Given the description of an element on the screen output the (x, y) to click on. 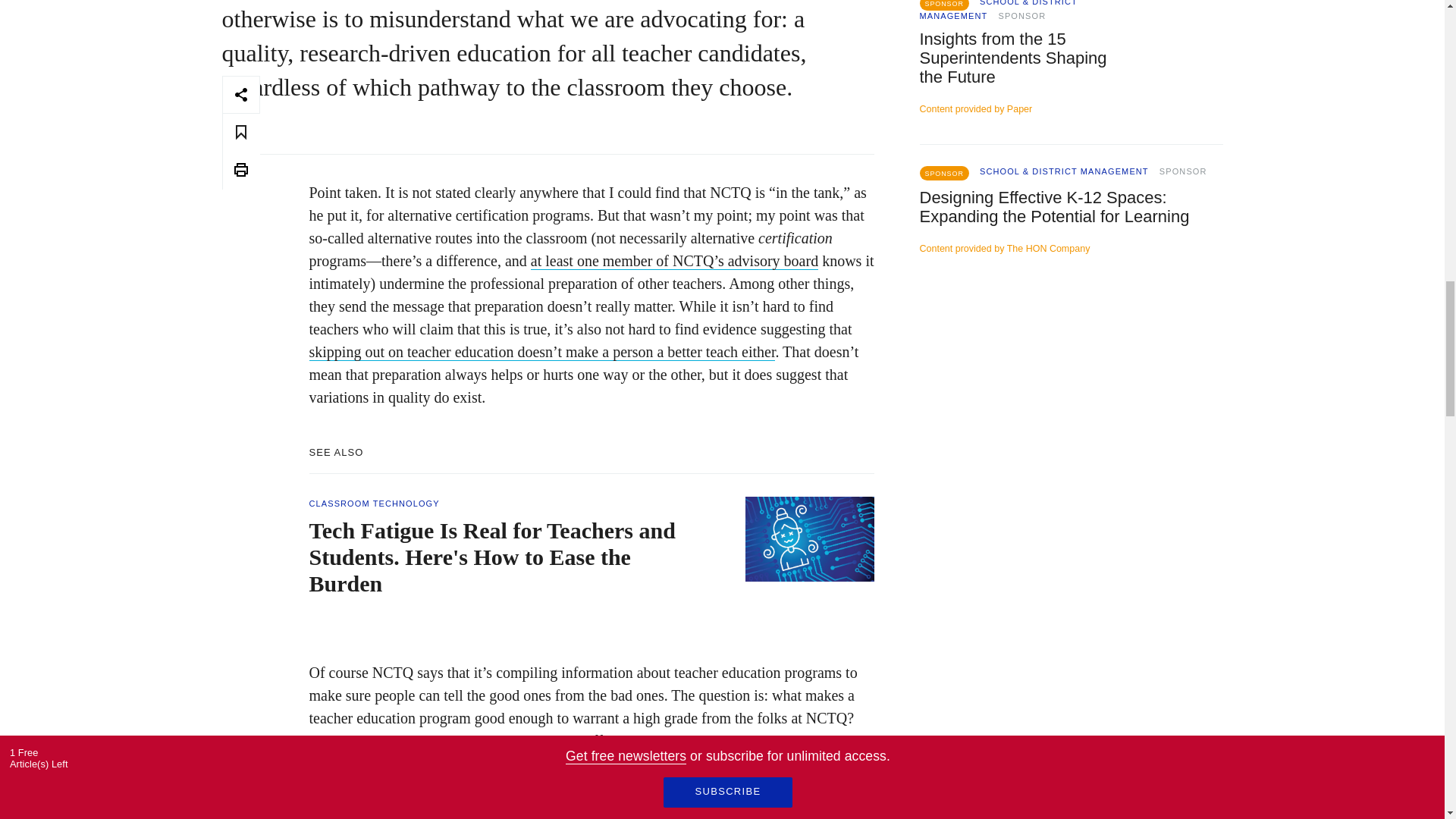
3rd party ad content (1070, 410)
